Given the description of an element on the screen output the (x, y) to click on. 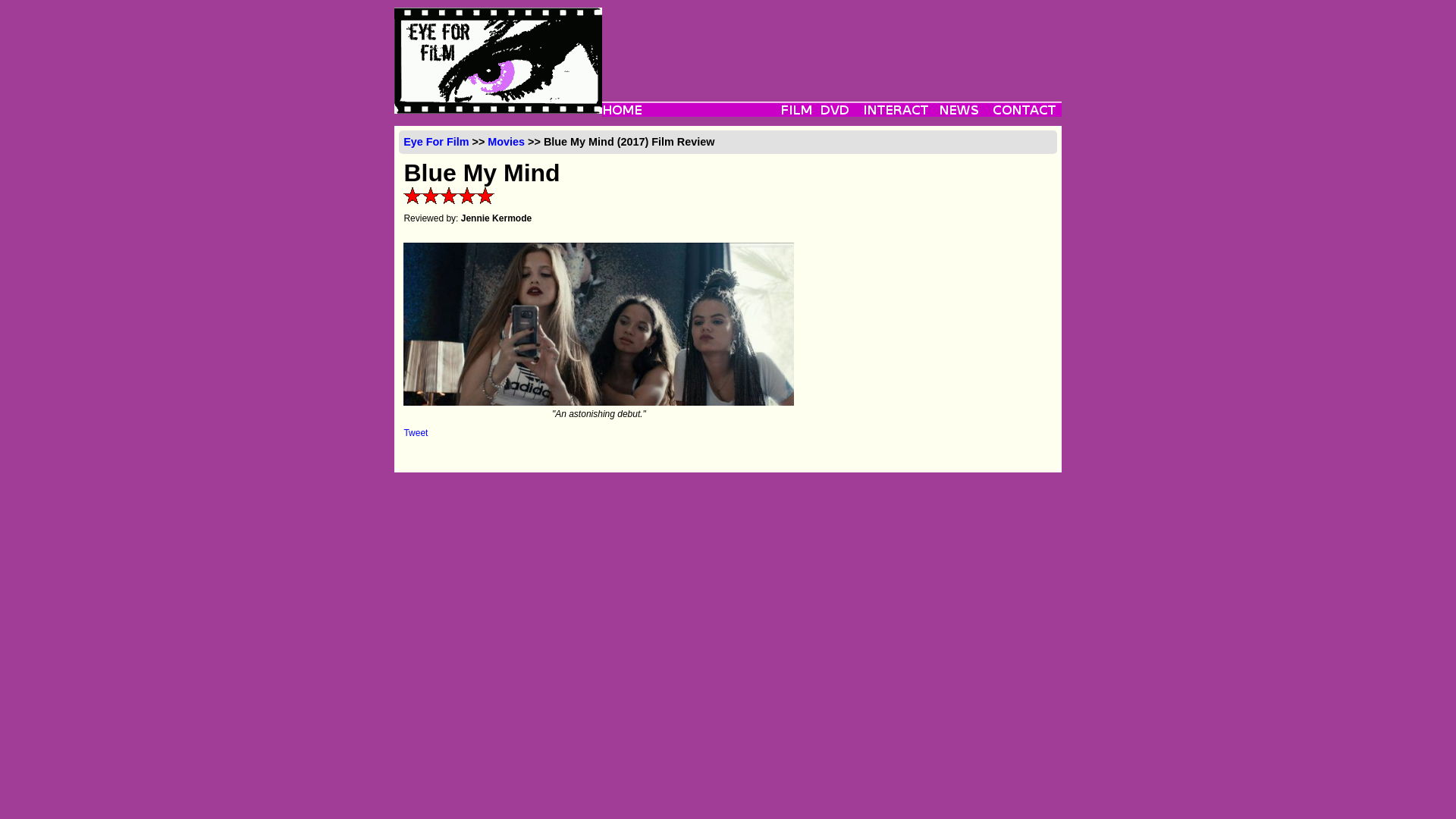
Eye For Film (435, 141)
Movies (505, 141)
Jennie Kermode (496, 217)
Tweet (415, 432)
